Given the description of an element on the screen output the (x, y) to click on. 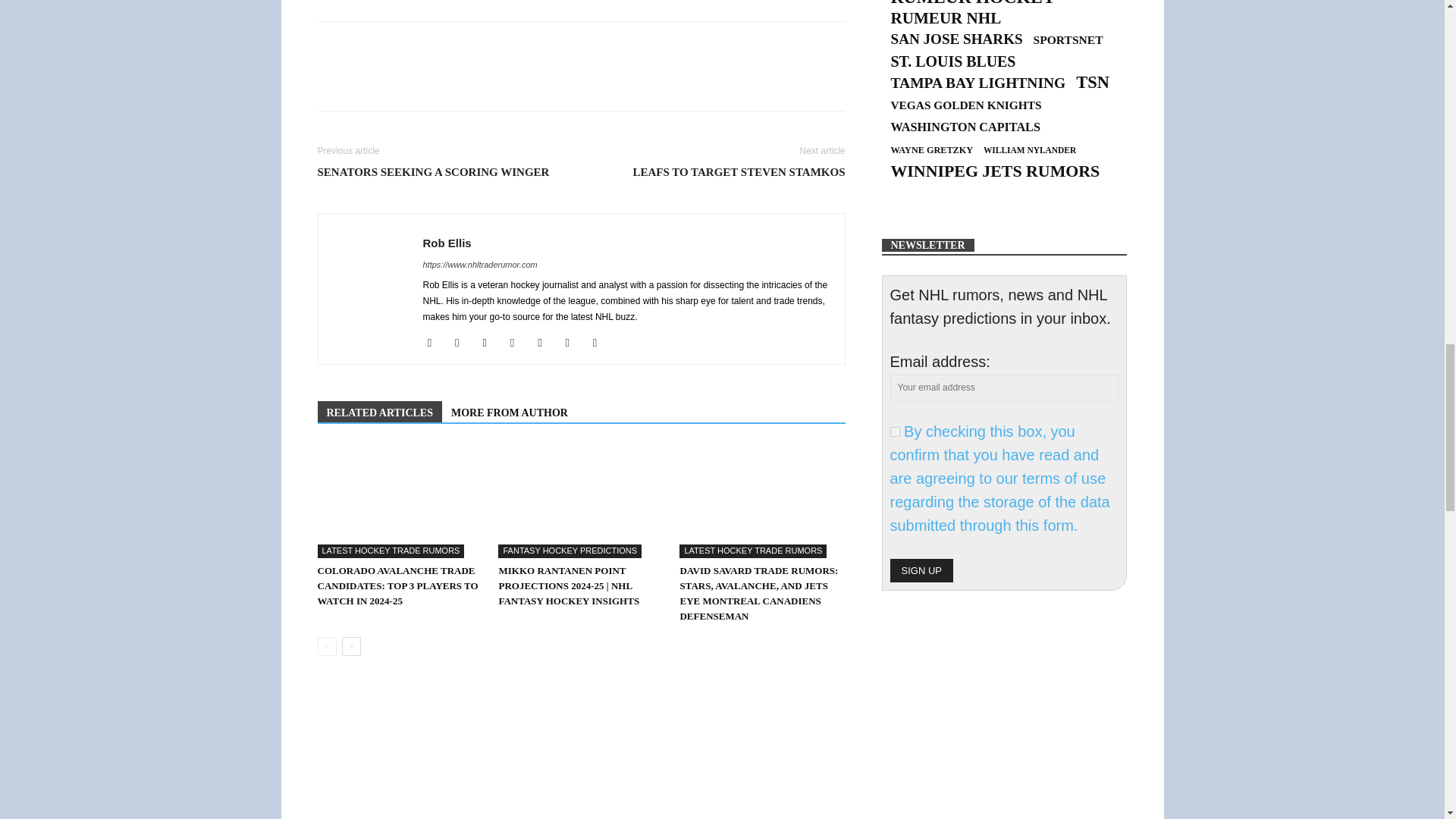
Sign up (921, 570)
1 (894, 431)
